Given the description of an element on the screen output the (x, y) to click on. 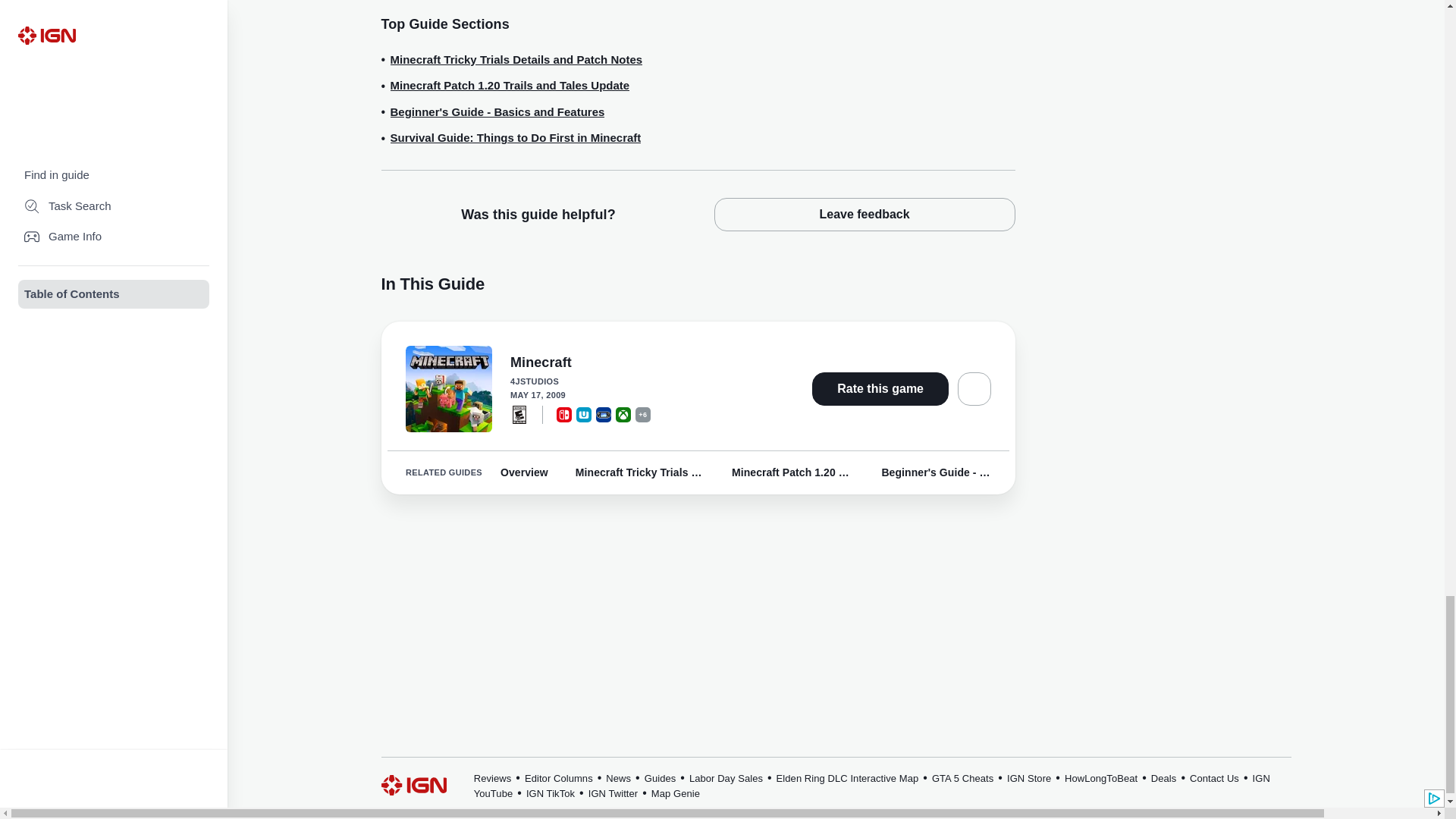
Nintendo Switch (564, 414)
PlayStation Vita (603, 414)
Wii U (583, 414)
Xbox One (622, 414)
